Given the description of an element on the screen output the (x, y) to click on. 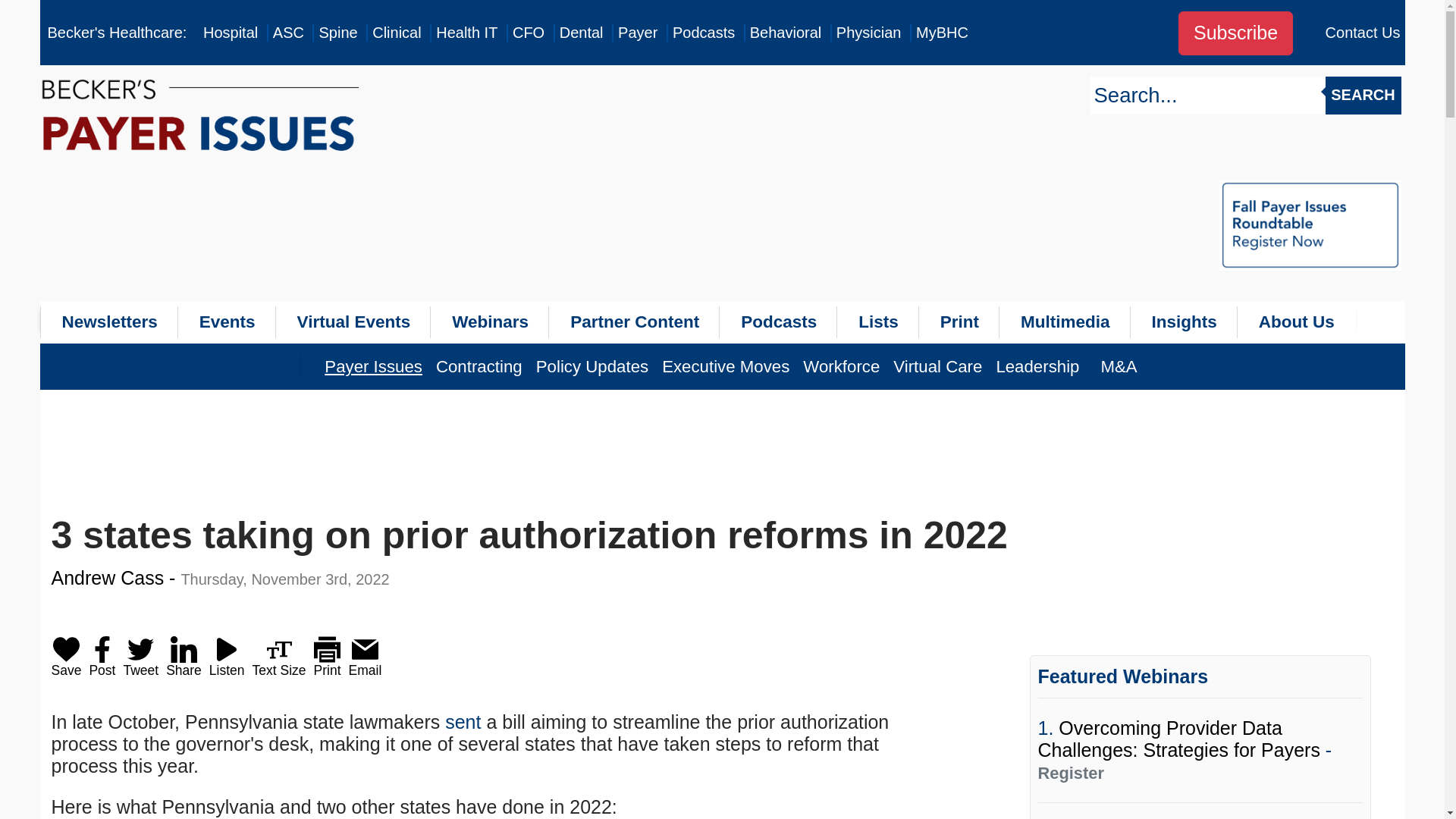
CFO (528, 32)
Health IT (466, 32)
Clinical (396, 32)
Behavioral (785, 32)
Becker's Behavioral Health (785, 32)
MyBHC (941, 32)
Contact Us (1362, 32)
Payer (637, 32)
Physician (868, 32)
Becker's Dental Review (581, 32)
